Given the description of an element on the screen output the (x, y) to click on. 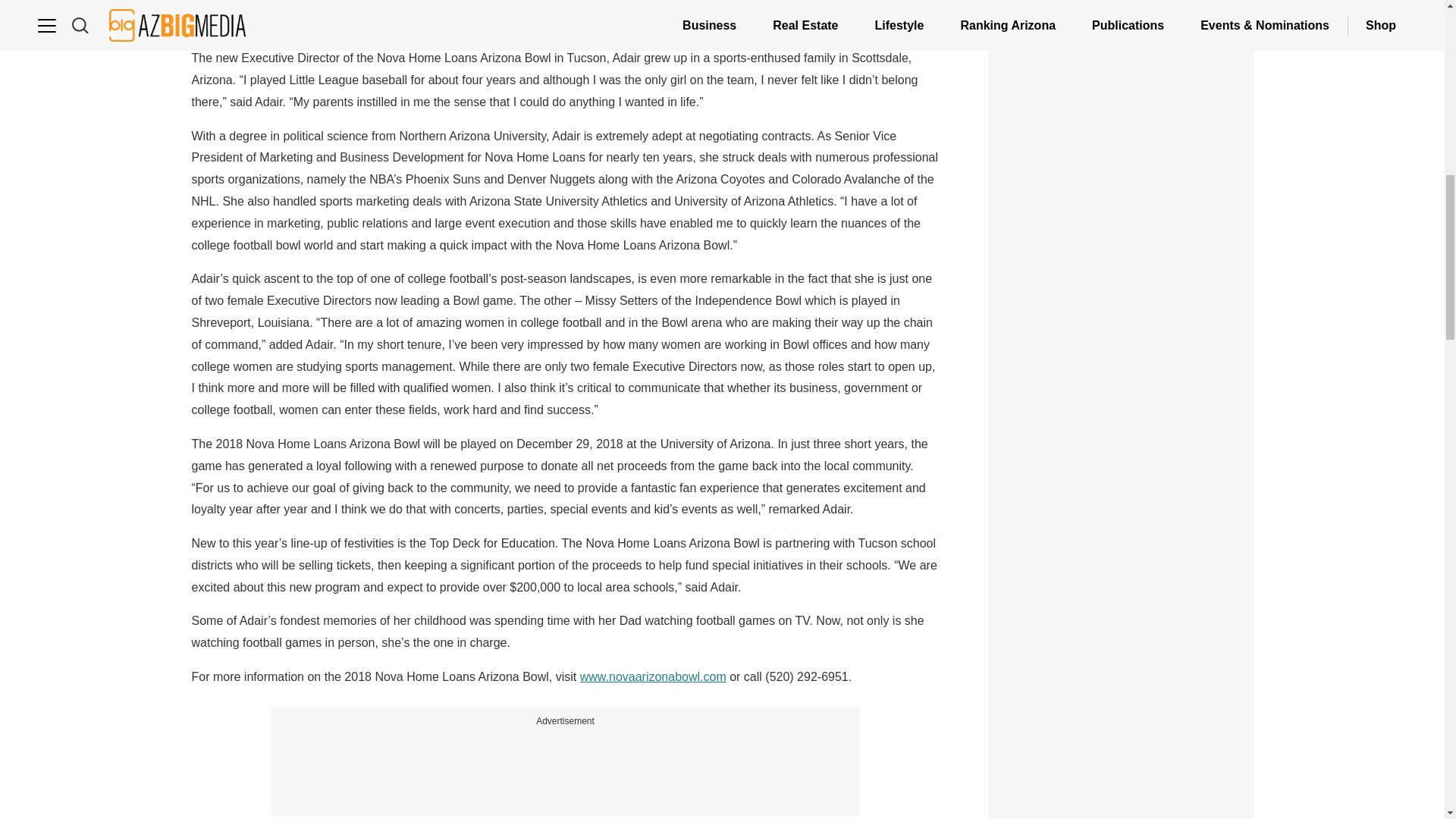
3rd party ad content (1120, 61)
3rd party ad content (565, 763)
3rd party ad content (1120, 385)
3rd party ad content (1120, 734)
